Given the description of an element on the screen output the (x, y) to click on. 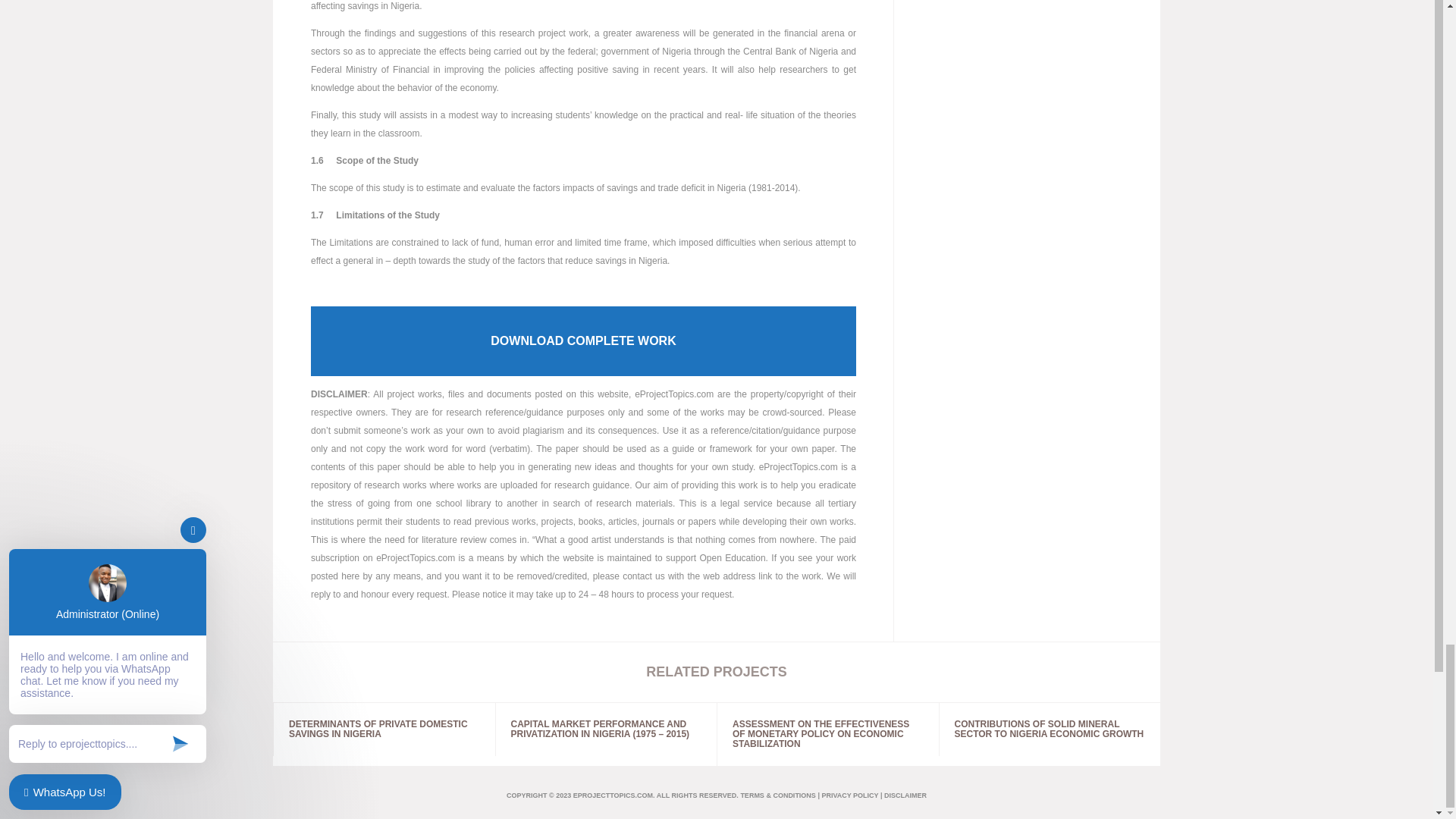
PRIVACY POLICY (849, 795)
DISCLAIMER (904, 795)
DOWNLOAD COMPLETE WORK (583, 340)
DETERMINANTS OF PRIVATE DOMESTIC SAVINGS IN NIGERIA (384, 728)
